Given the description of an element on the screen output the (x, y) to click on. 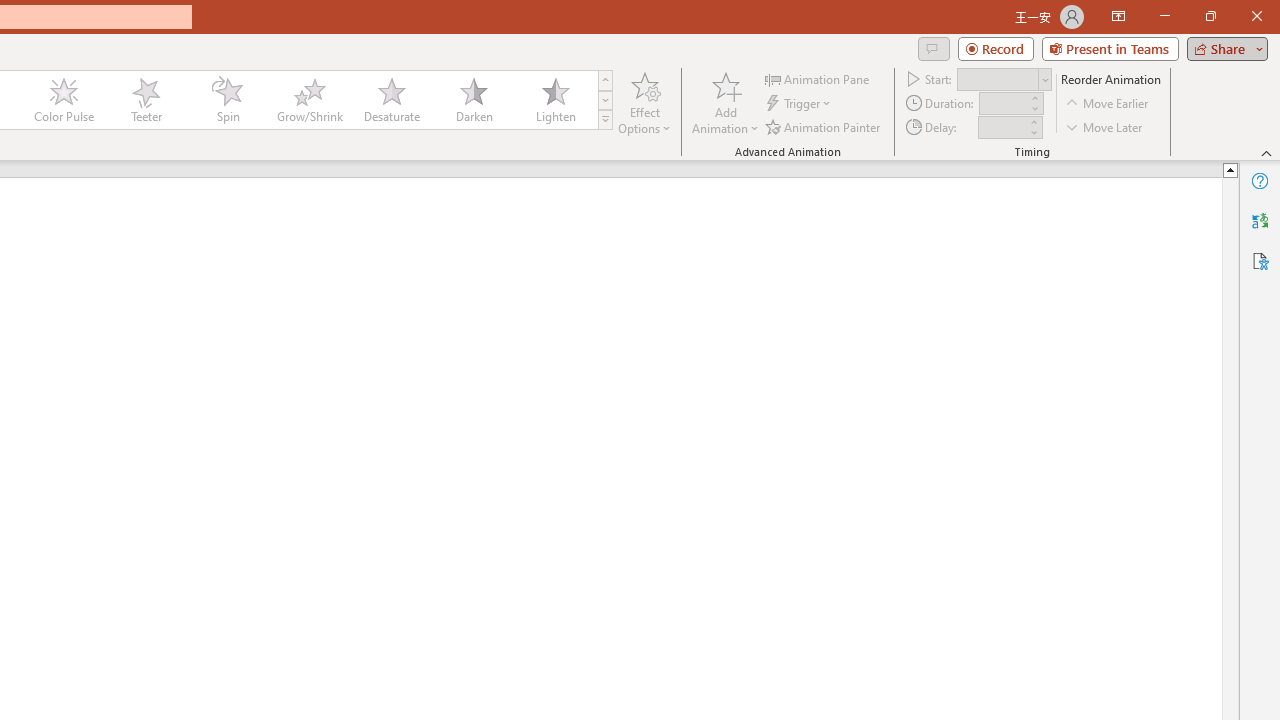
Lighten (555, 100)
Darken (473, 100)
Animation Duration (1003, 103)
Move Later (1105, 126)
Trigger (799, 103)
